Given the description of an element on the screen output the (x, y) to click on. 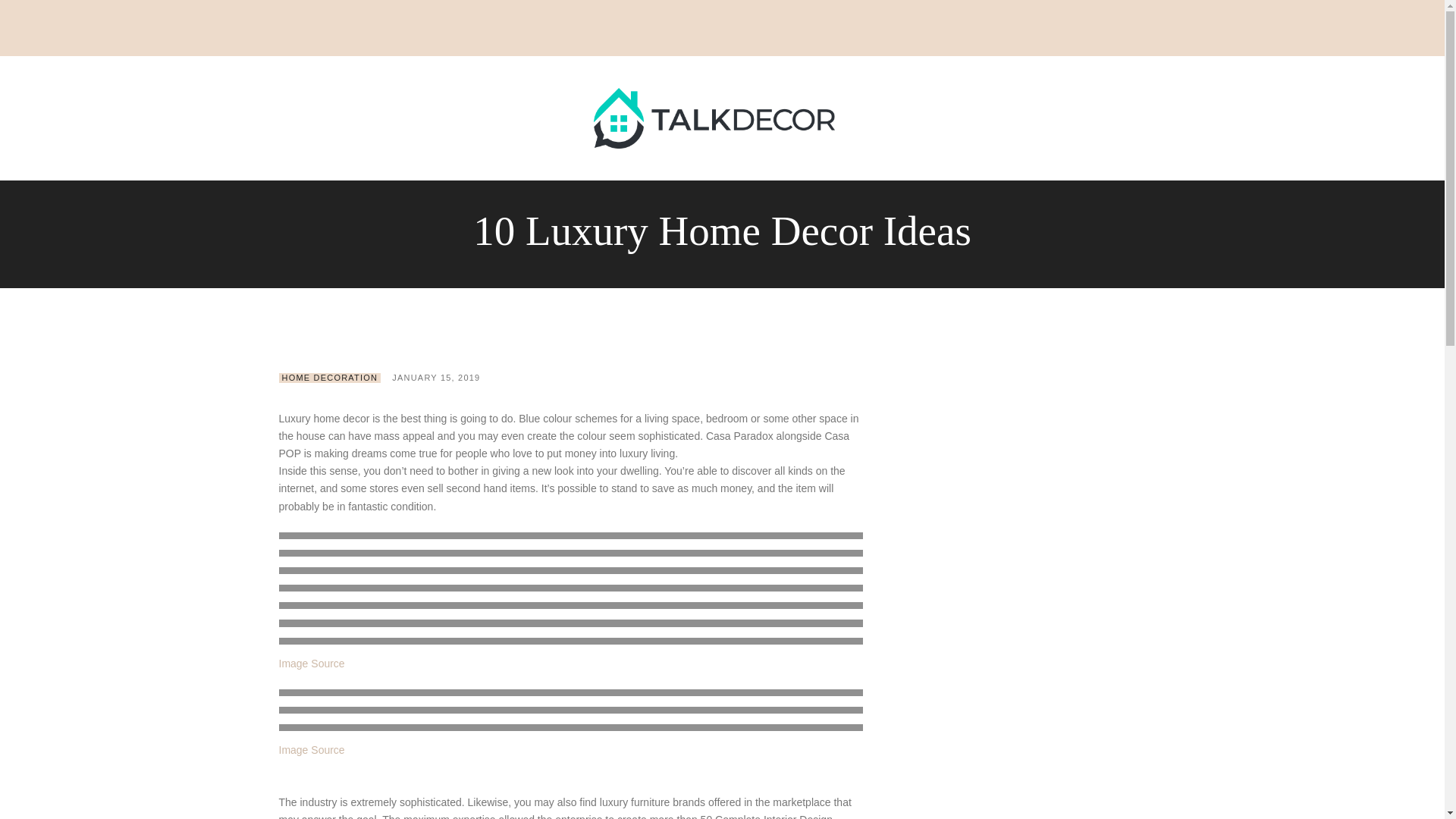
Image Source (312, 663)
JANUARY 15, 2019 (435, 377)
Image Source (312, 749)
HOME DECORATION (330, 378)
